Given the description of an element on the screen output the (x, y) to click on. 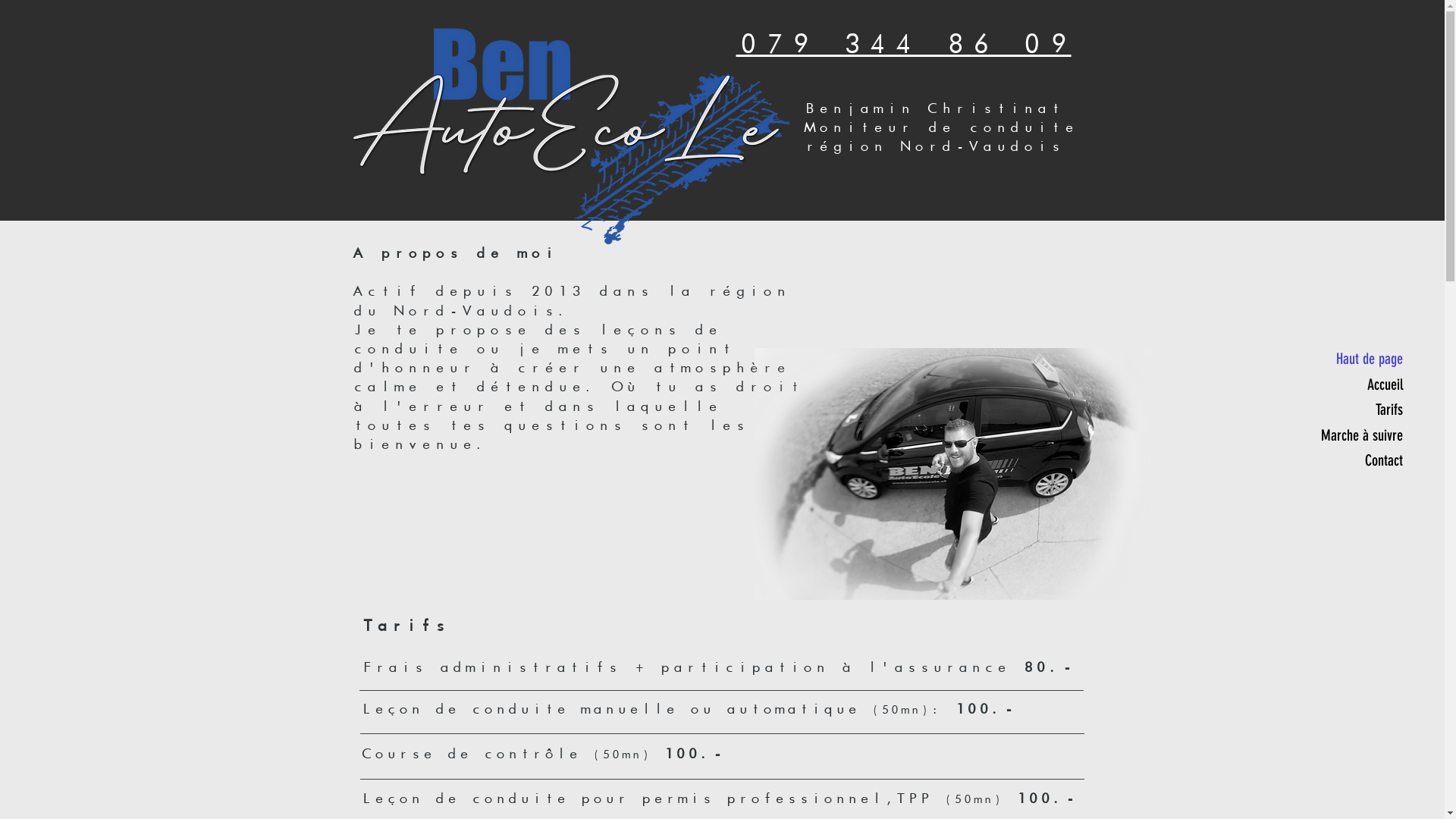
Haut de page Element type: text (1358, 358)
079 344 86 09 Element type: text (902, 43)
Logo copy.png Element type: hover (571, 134)
Tarifs Element type: text (1358, 409)
Accueil Element type: text (1358, 383)
Contact Element type: text (1358, 459)
